Given the description of an element on the screen output the (x, y) to click on. 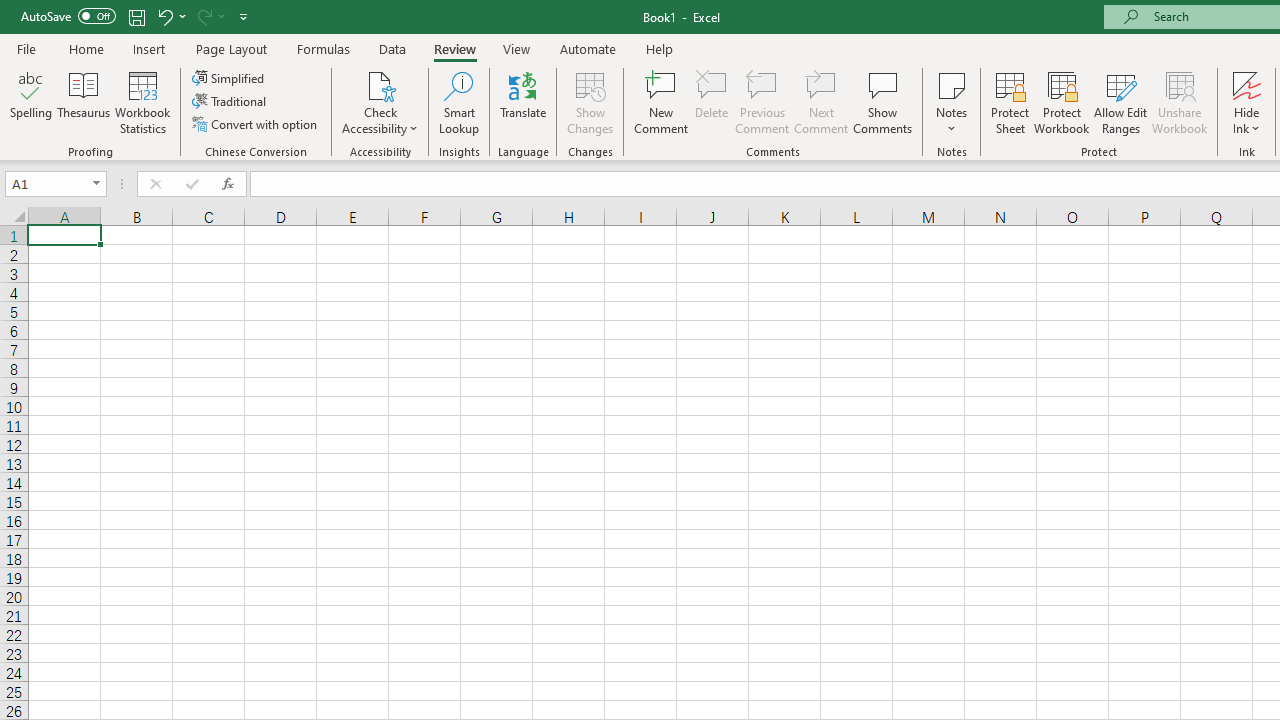
Smart Lookup (459, 102)
Delete (712, 102)
Notes (951, 102)
New Comment (661, 102)
Previous Comment (762, 102)
Translate (523, 102)
Convert with option (256, 124)
